Given the description of an element on the screen output the (x, y) to click on. 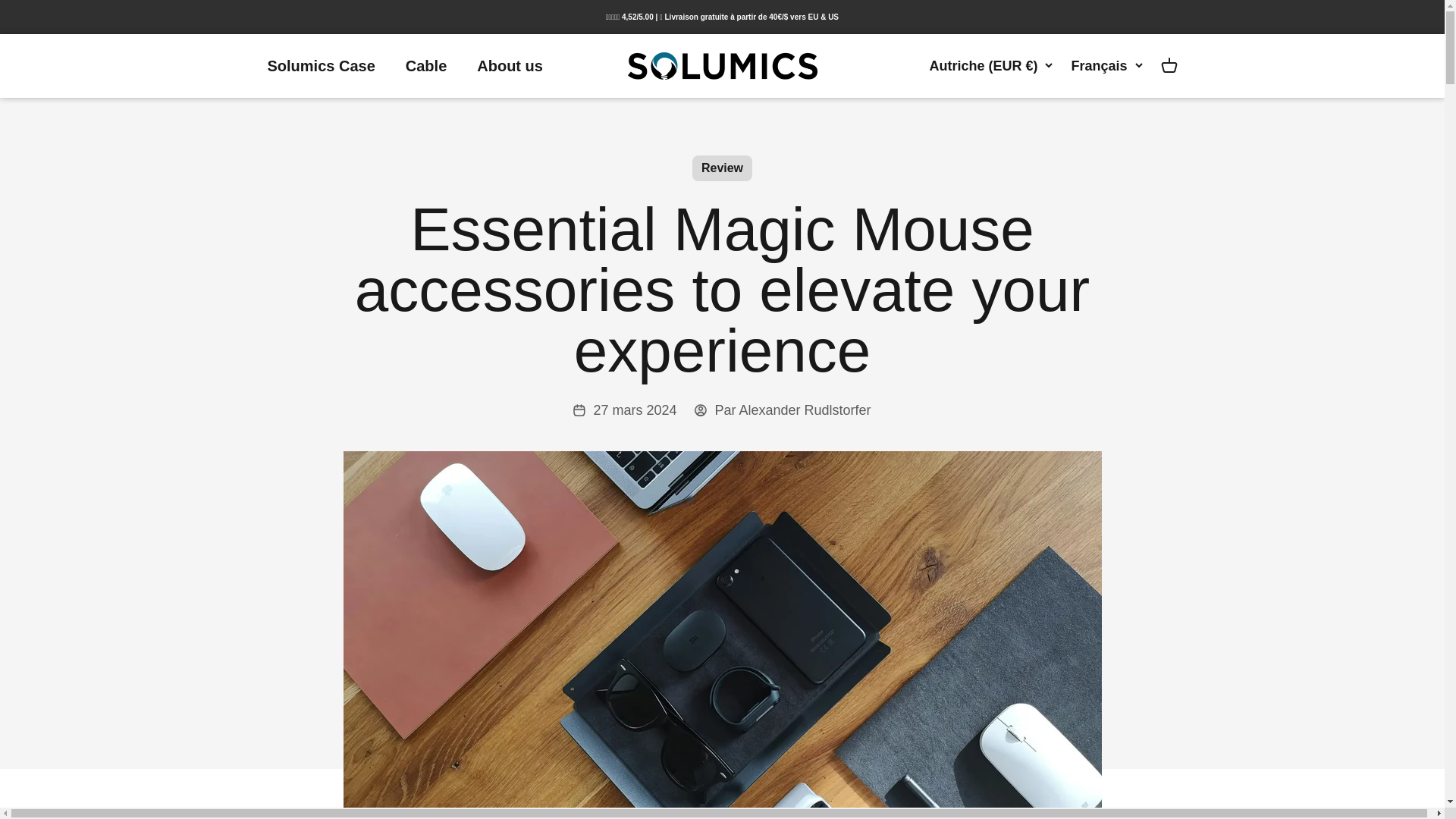
About us (510, 65)
Solumics Case (320, 65)
Solumics (721, 65)
Cable (426, 65)
